Given the description of an element on the screen output the (x, y) to click on. 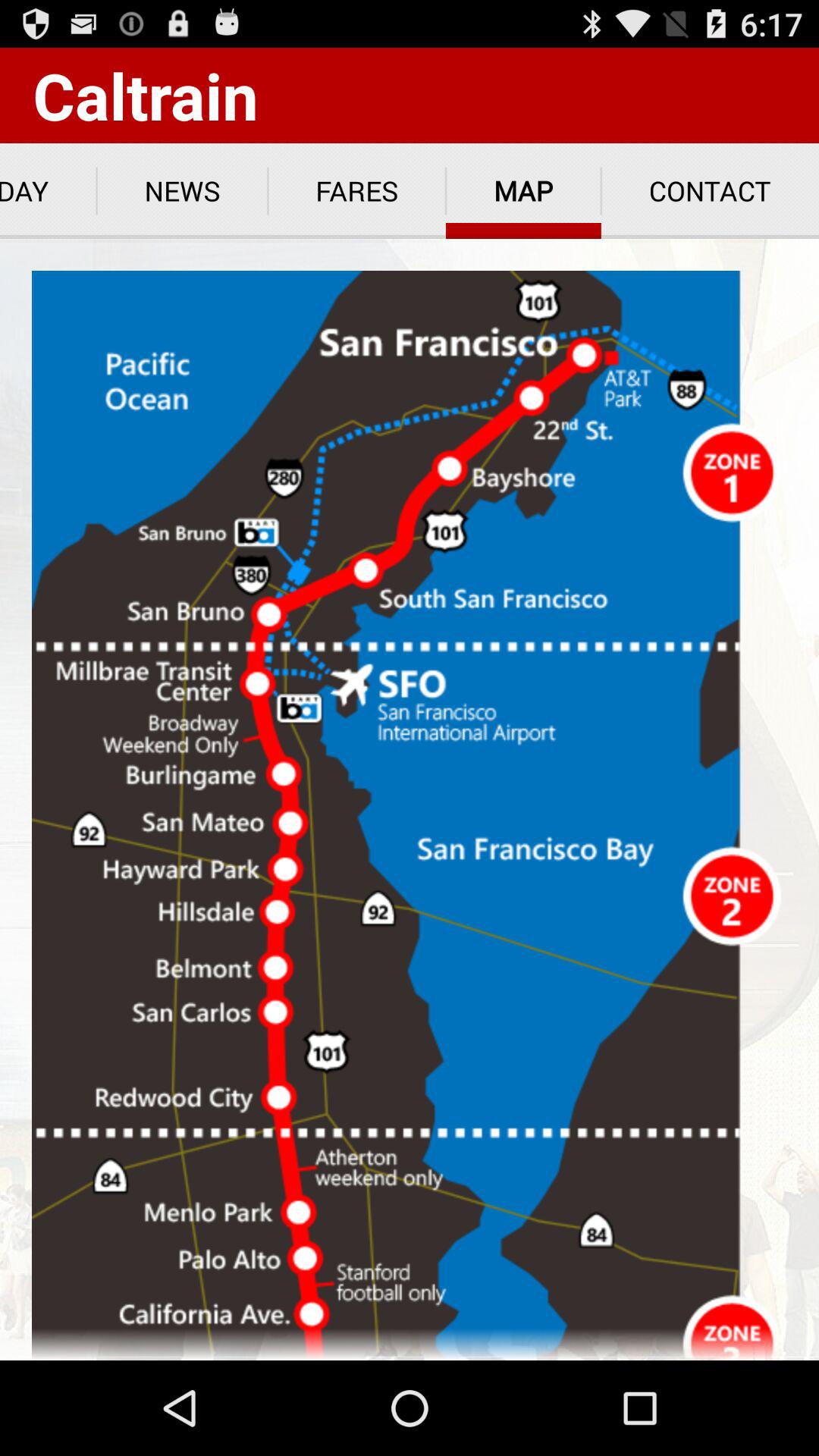
turn on fares (356, 190)
